Given the description of an element on the screen output the (x, y) to click on. 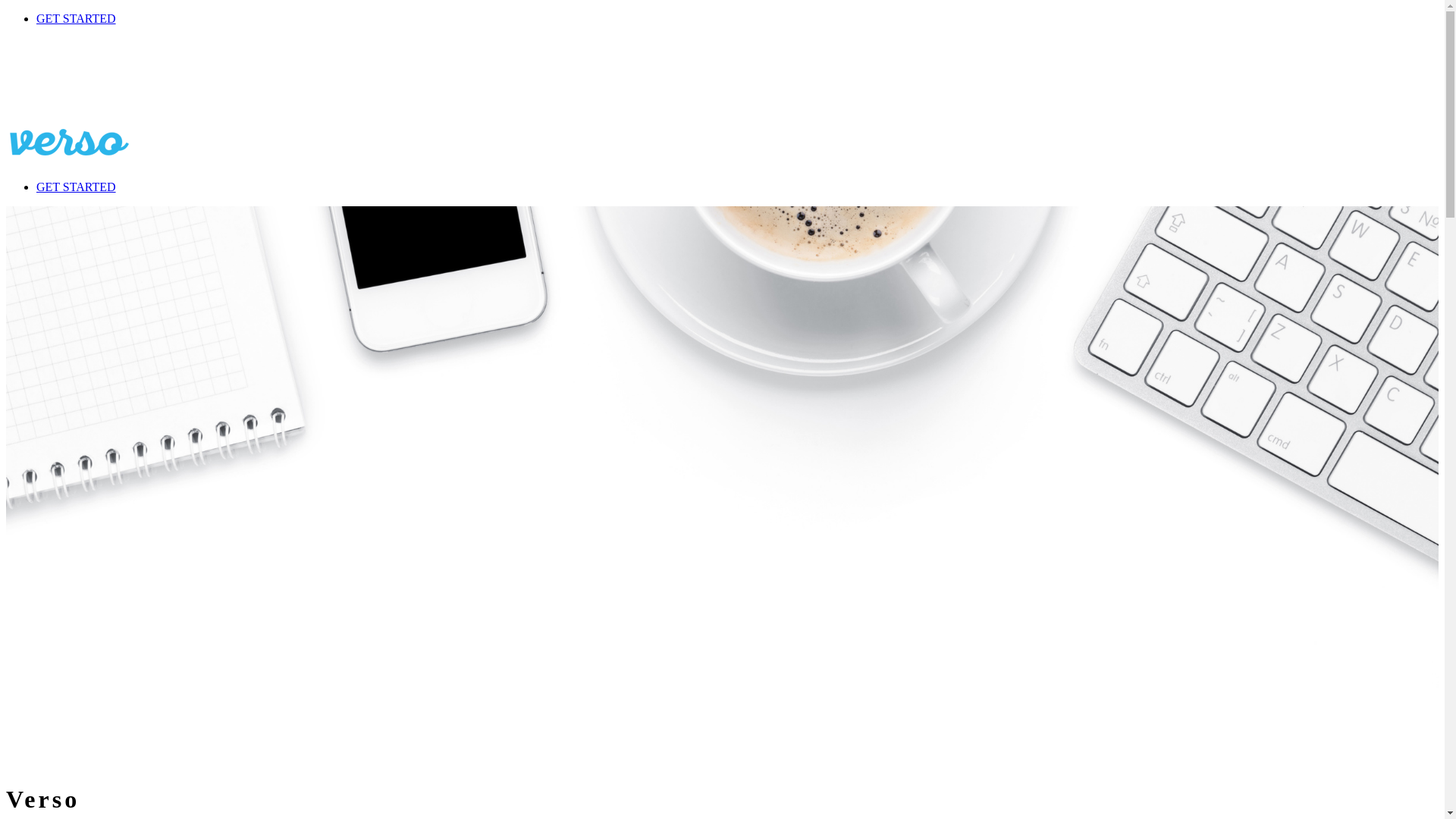
GET STARTED Element type: text (76, 186)
GET STARTED Element type: text (76, 18)
